Given the description of an element on the screen output the (x, y) to click on. 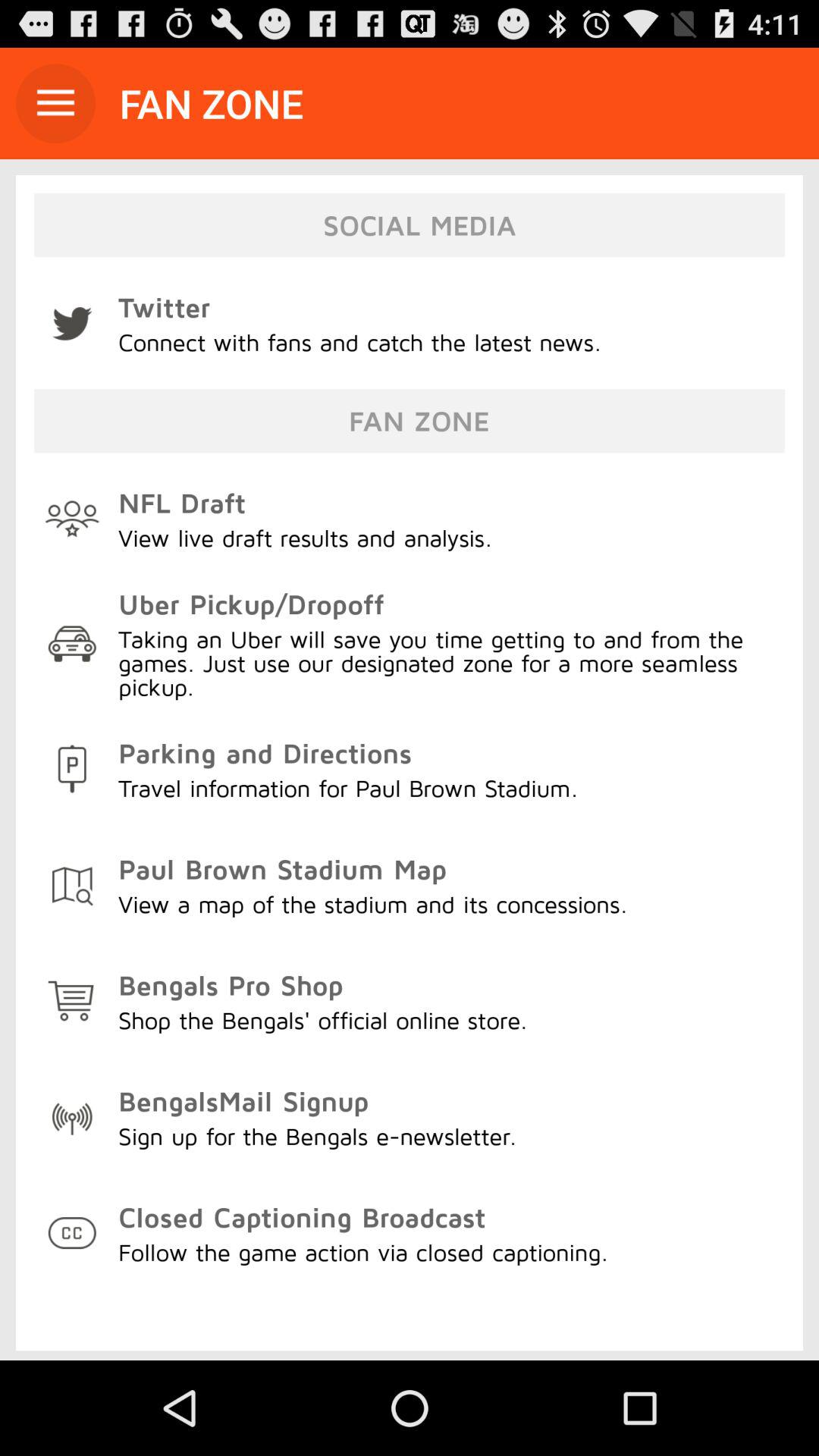
choose icon next to the fan zone item (55, 103)
